Given the description of an element on the screen output the (x, y) to click on. 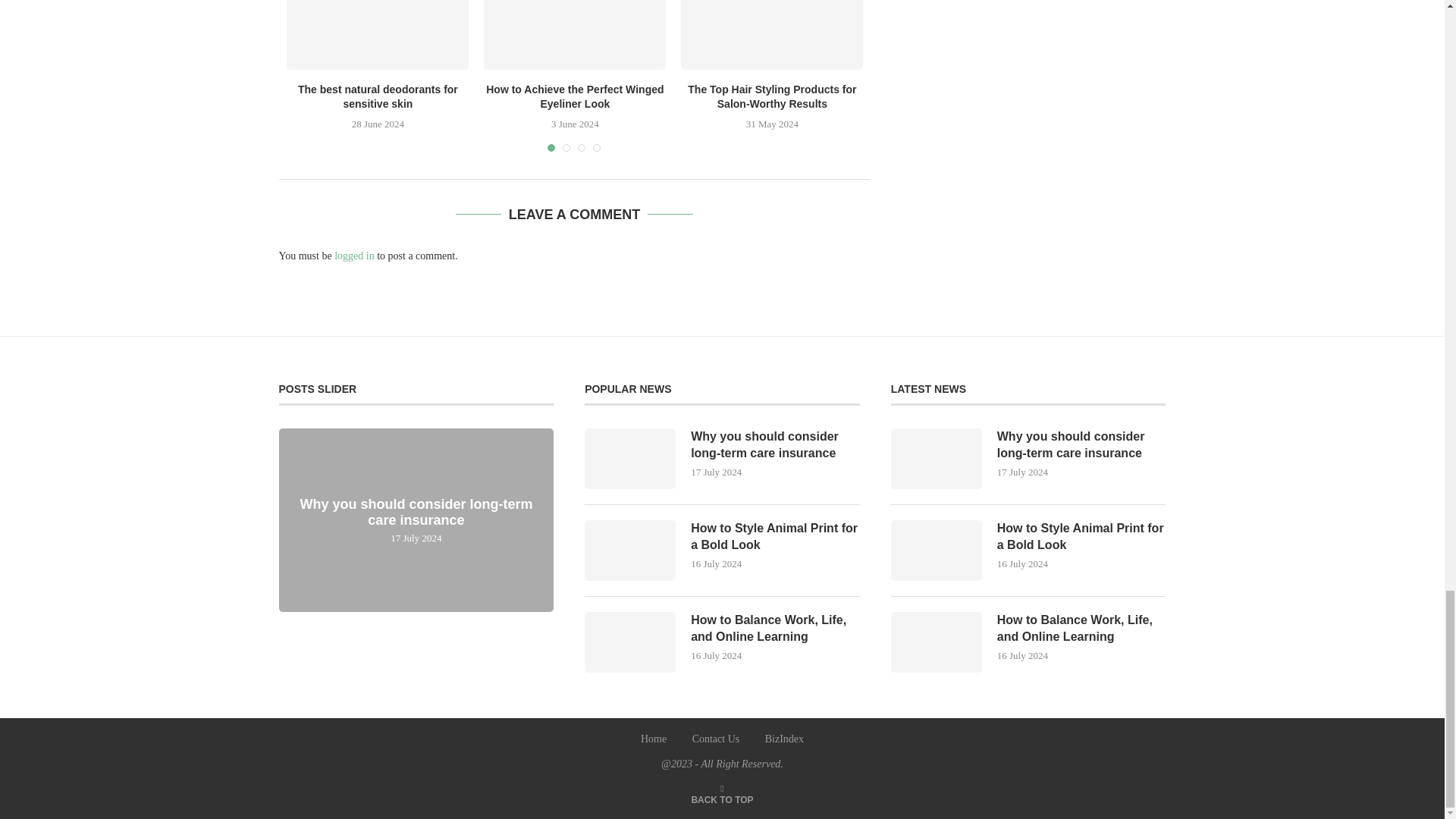
How to Achieve the Perfect Winged Eyeliner Look (574, 34)
The Top Hair Styling Products for Salon-Worthy Results (772, 34)
The best natural deodorants for sensitive skin (377, 34)
